Given the description of an element on the screen output the (x, y) to click on. 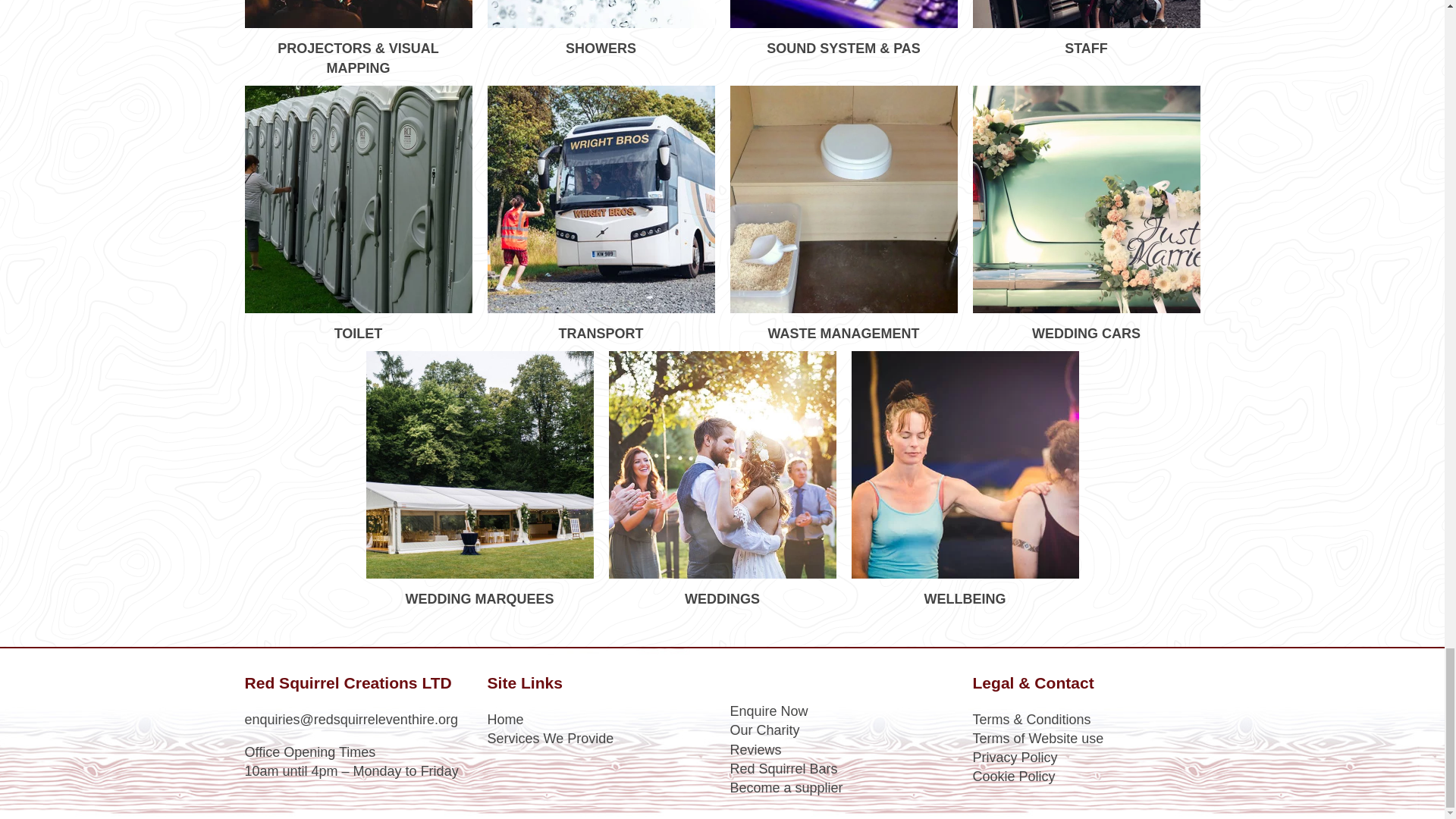
STAFF (1085, 29)
SHOWERS (600, 29)
